Given the description of an element on the screen output the (x, y) to click on. 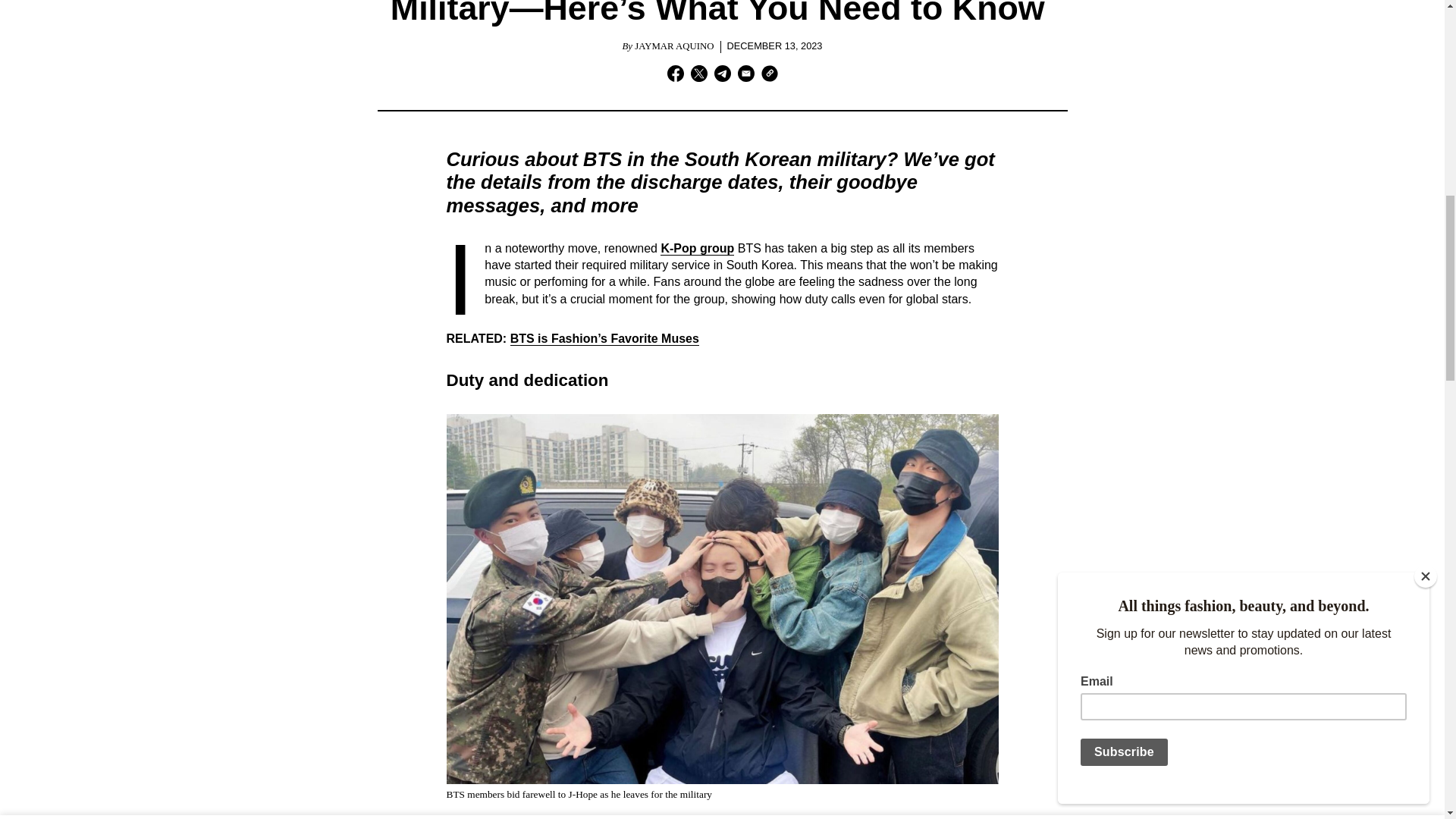
Copy Link (769, 75)
Telegram (722, 75)
K-Pop group (697, 248)
Email (745, 75)
By JAYMAR AQUINO (667, 46)
Facebook (675, 75)
X (698, 75)
